Given the description of an element on the screen output the (x, y) to click on. 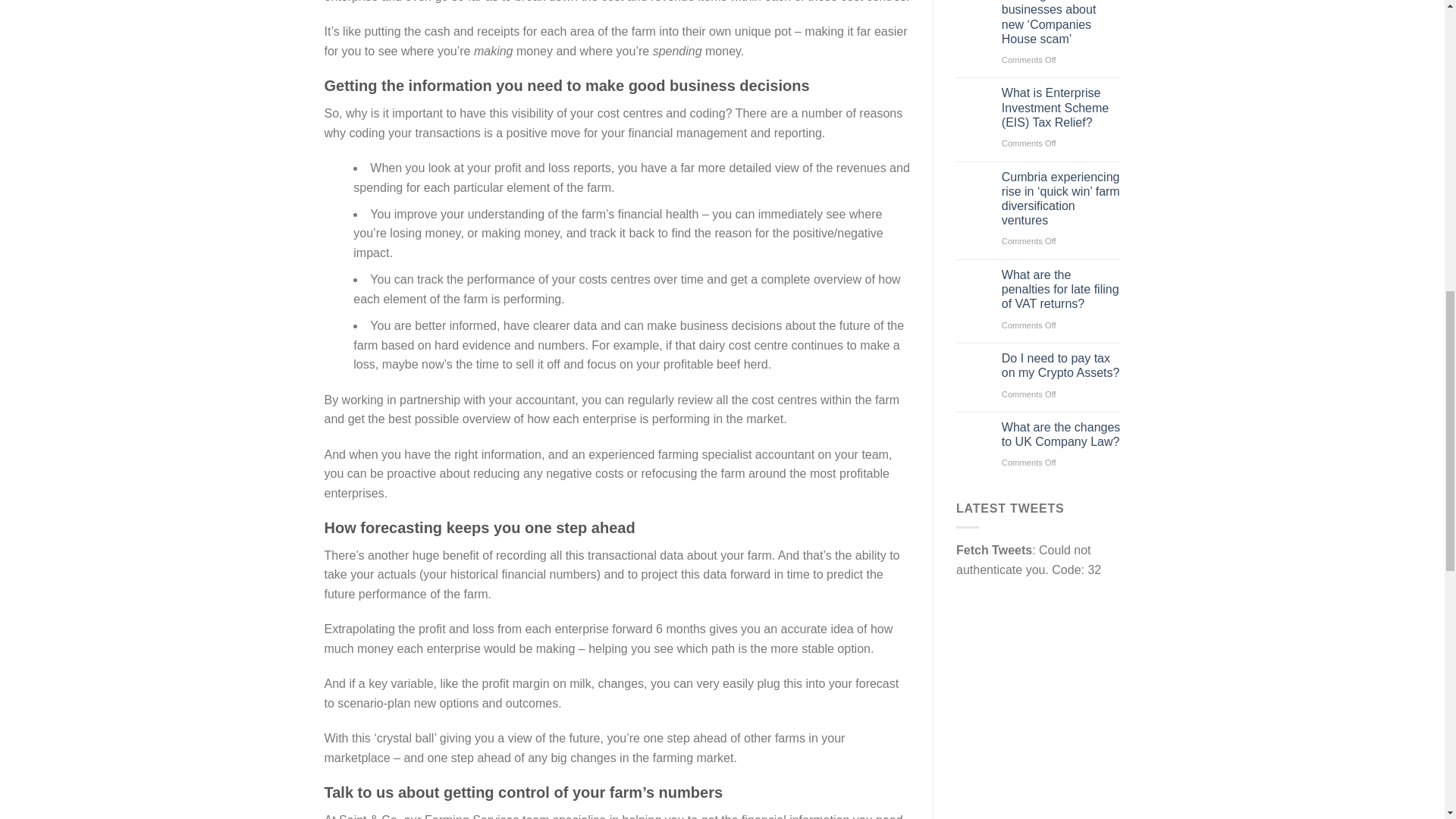
Do I need to pay tax on my Crypto Assets? (1061, 365)
What are the penalties for late filing of VAT returns? (1061, 289)
What are the changes to UK Company Law? (1061, 434)
